Given the description of an element on the screen output the (x, y) to click on. 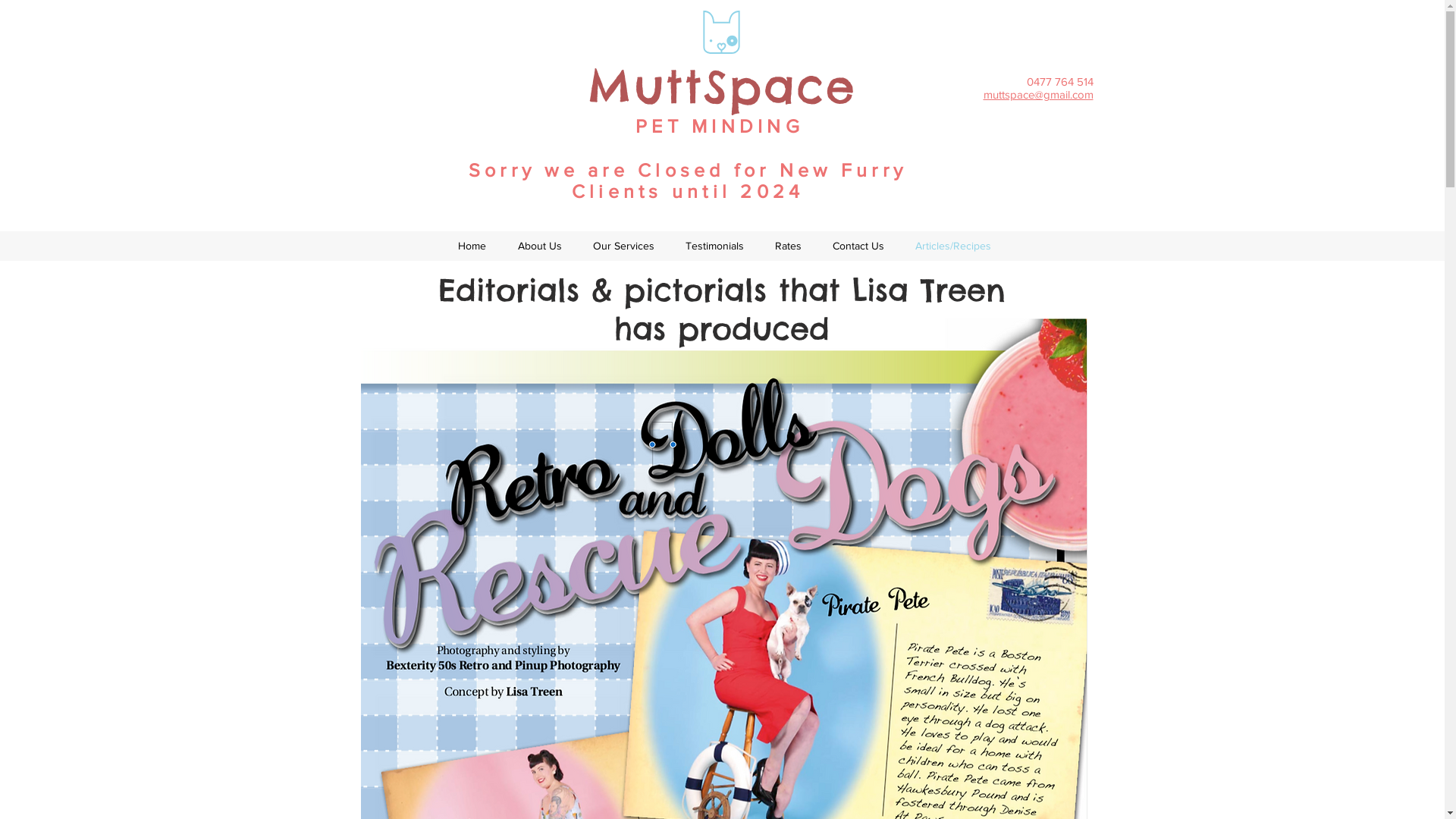
MuttSpace Element type: text (721, 86)
Our Services Element type: text (623, 245)
Articles/Recipes Element type: text (952, 245)
Rates Element type: text (788, 245)
Home Element type: text (471, 245)
About Us Element type: text (539, 245)
muttspace@gmail.com Element type: text (1037, 93)
Contact Us Element type: text (858, 245)
PET MINDING Element type: text (719, 125)
Testimonials Element type: text (714, 245)
